Given the description of an element on the screen output the (x, y) to click on. 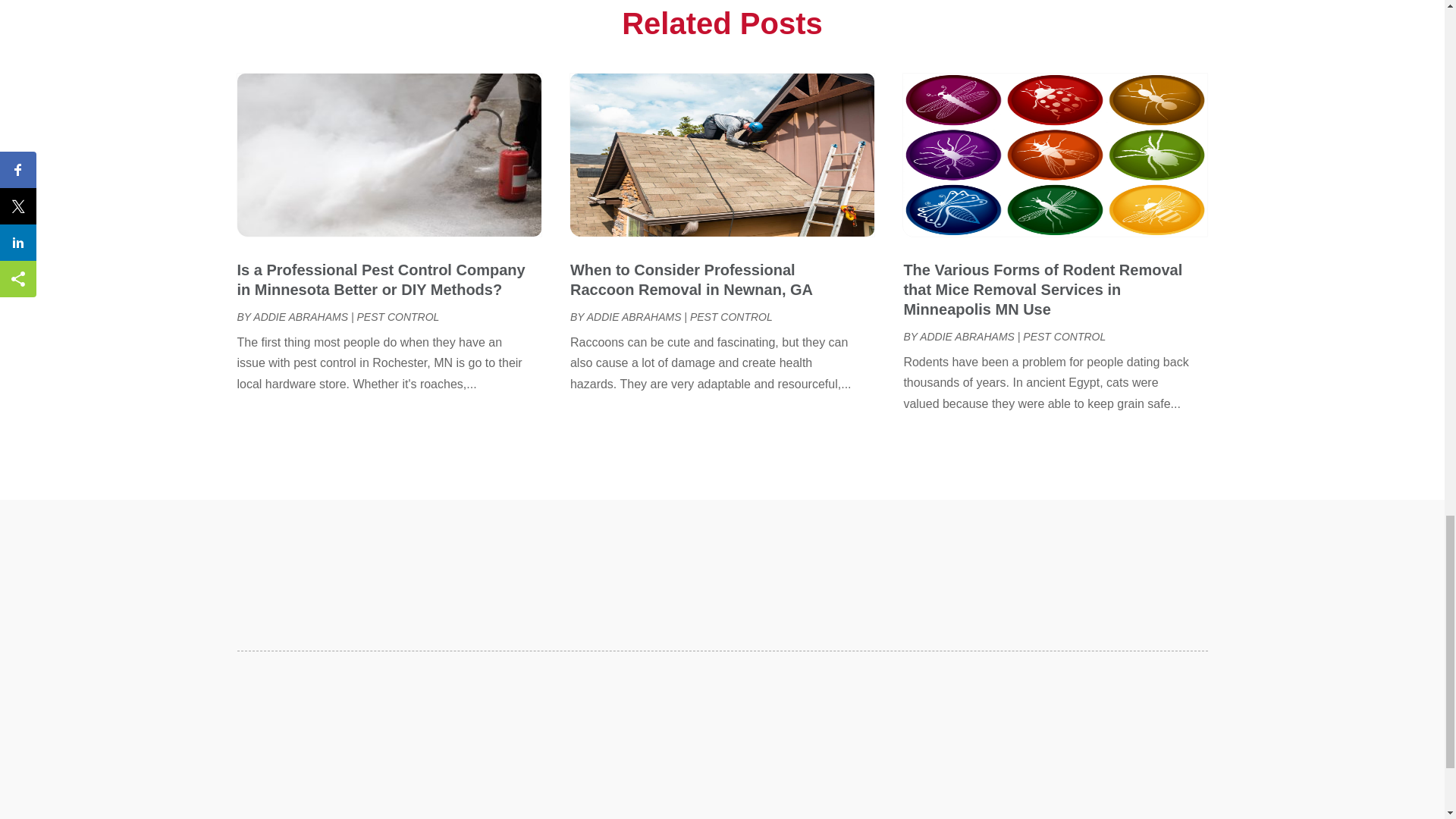
Posts by Addie Abrahams (300, 316)
Posts by Addie Abrahams (967, 336)
Custom Home Builder (965, 6)
Posts by Addie Abrahams (633, 316)
